Given the description of an element on the screen output the (x, y) to click on. 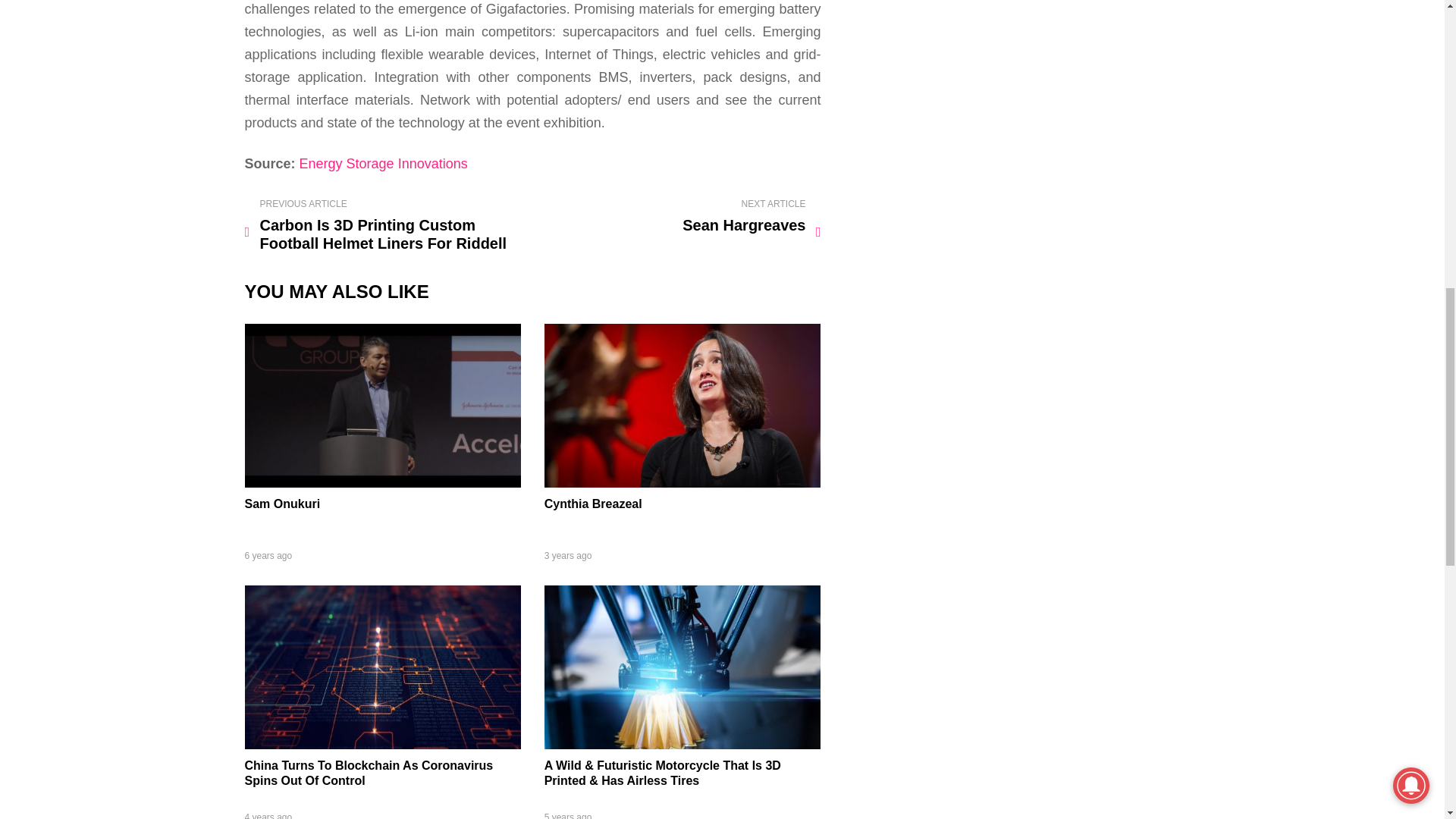
Sam Onukuri (282, 503)
Cynthia Breazeal (593, 503)
Sean Hargreaves (679, 216)
Cynthia Breazeal (682, 482)
Sam Onukuri (382, 482)
